Given the description of an element on the screen output the (x, y) to click on. 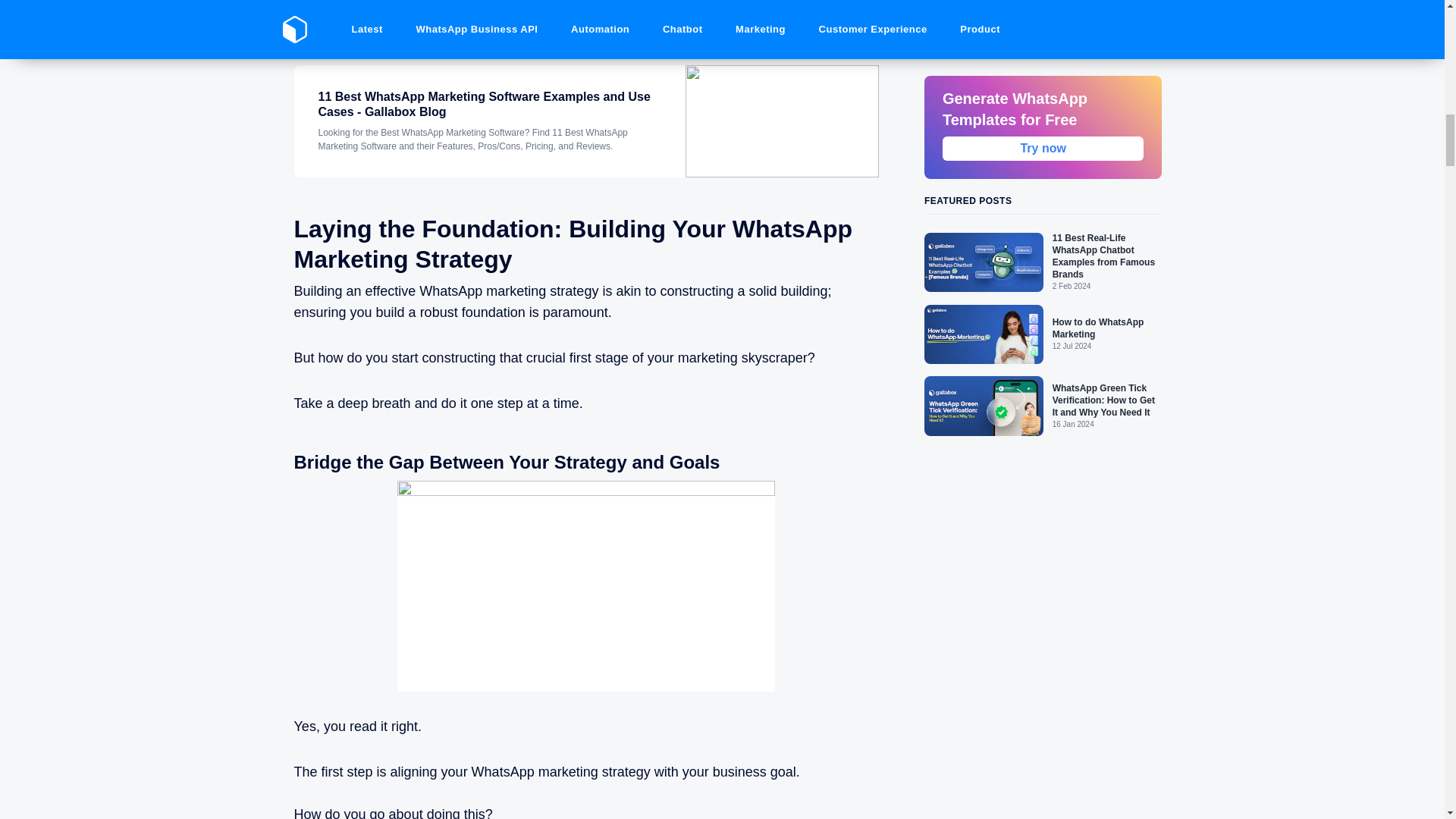
conversational selling (718, 29)
